Given the description of an element on the screen output the (x, y) to click on. 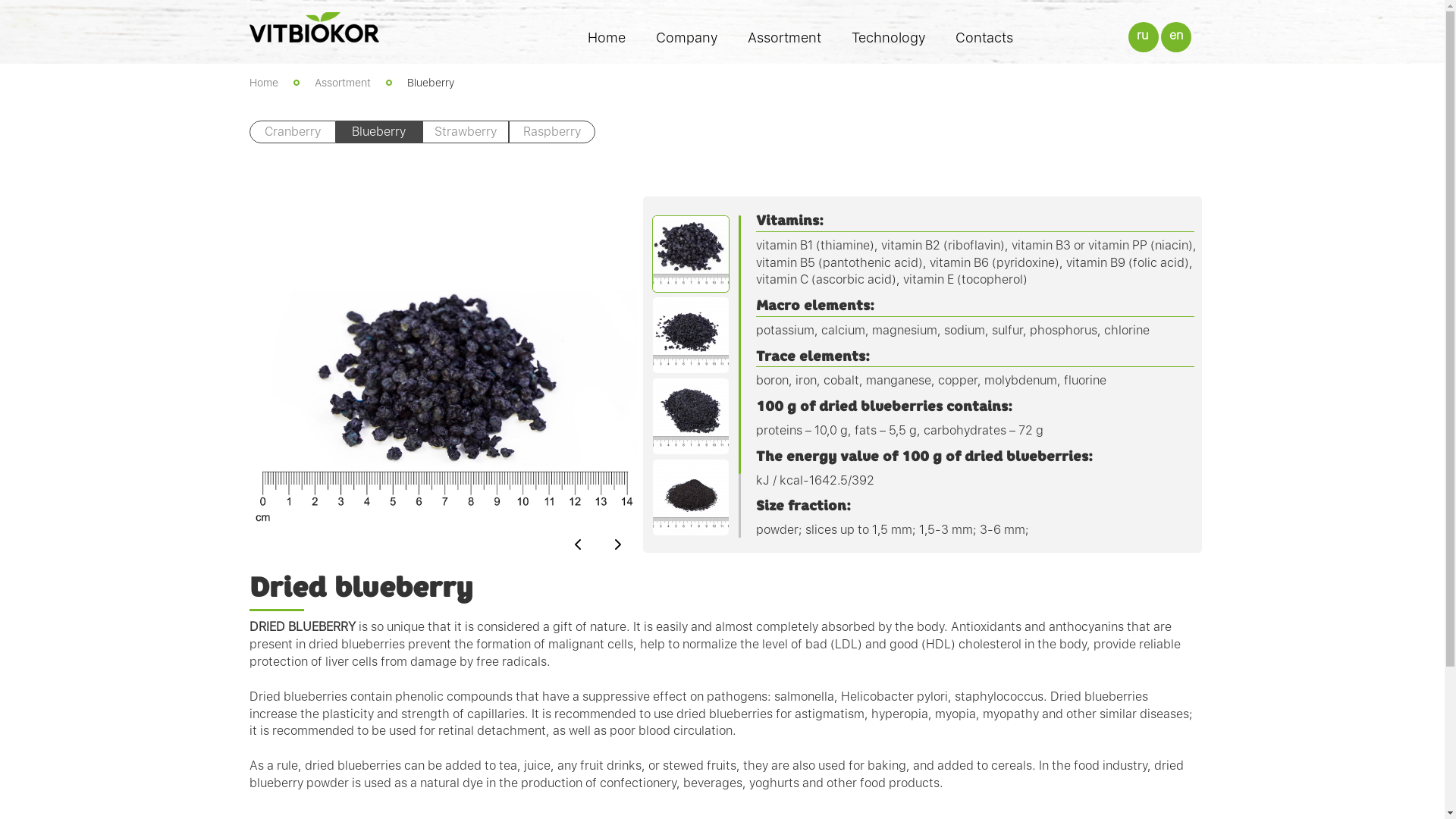
Assortment Element type: text (784, 41)
Next Element type: text (617, 543)
Assortment Element type: text (341, 82)
ru Element type: text (1143, 35)
Contacts Element type: text (984, 41)
Technology Element type: text (888, 41)
Cranberry Element type: text (291, 131)
Strawberry Element type: text (464, 131)
en Element type: text (1176, 35)
Raspberry Element type: text (551, 131)
Home Element type: text (262, 82)
Home Element type: text (606, 41)
Blueberry Element type: text (378, 131)
Prev Element type: text (579, 543)
